Given the description of an element on the screen output the (x, y) to click on. 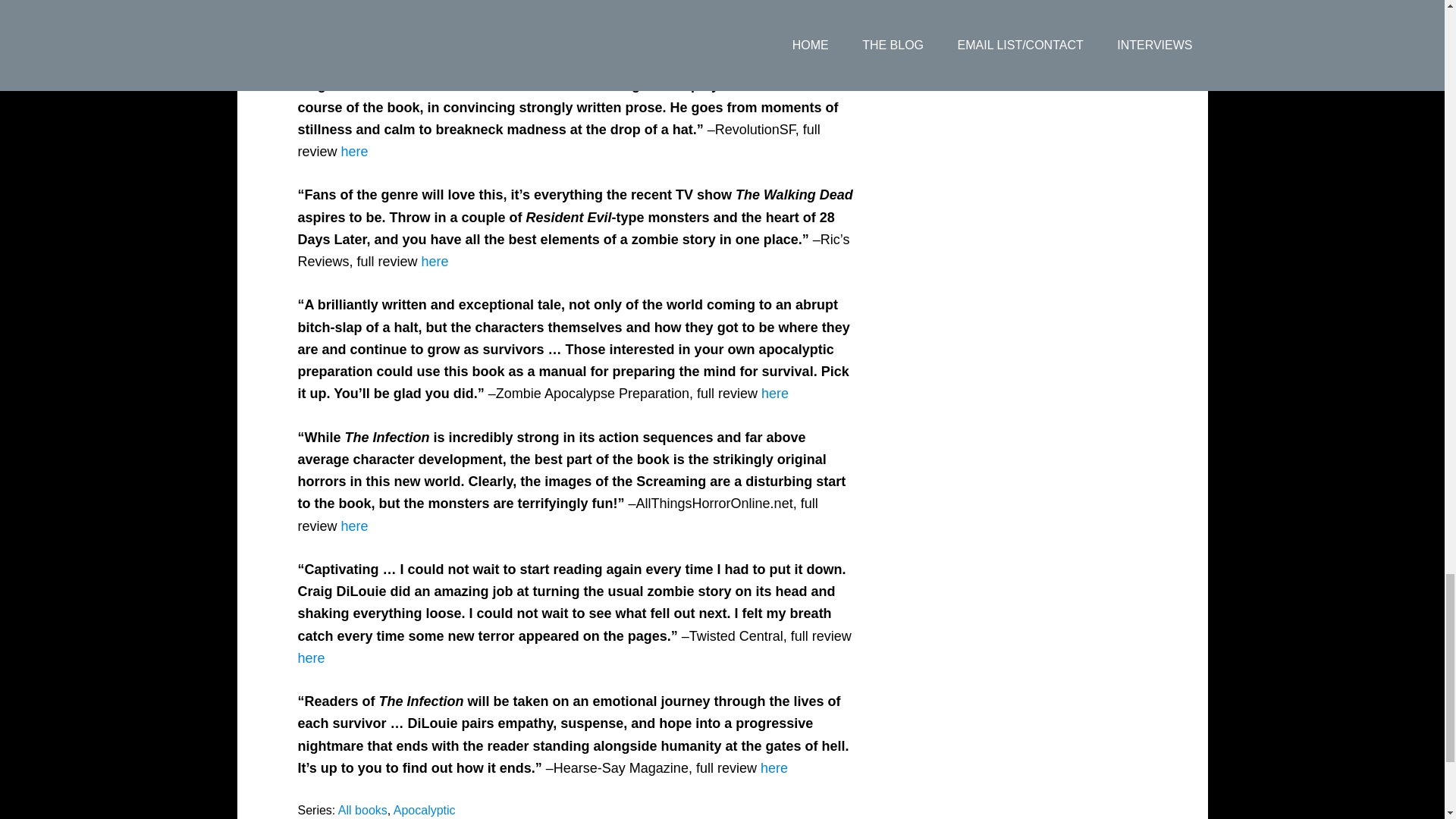
Apocalyptic (424, 809)
here (310, 657)
here (775, 393)
here (773, 767)
here (354, 151)
here (590, 41)
here (435, 261)
here (354, 525)
All books (362, 809)
